Given the description of an element on the screen output the (x, y) to click on. 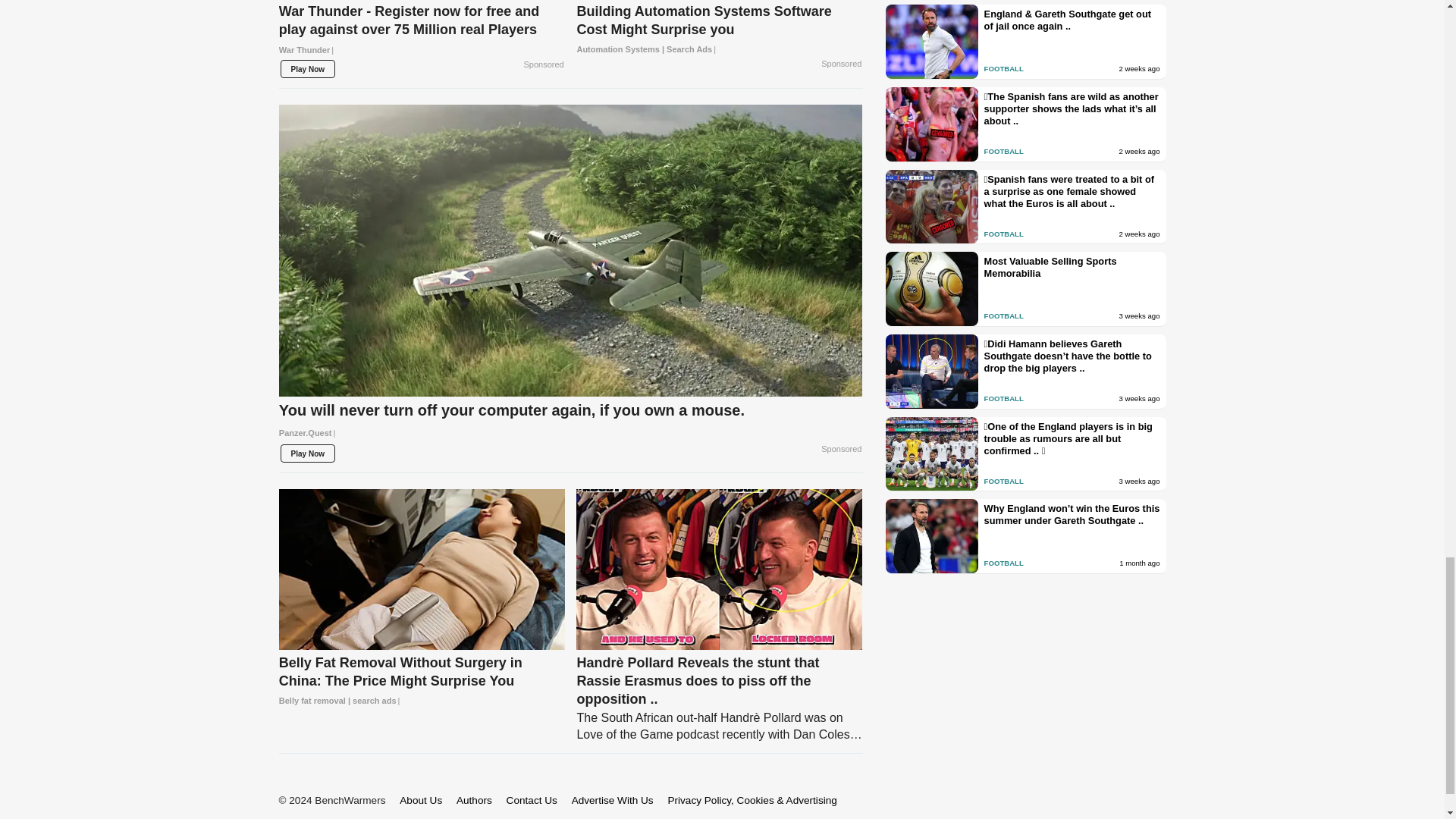
Sponsored (544, 64)
Play Now (307, 68)
